Given the description of an element on the screen output the (x, y) to click on. 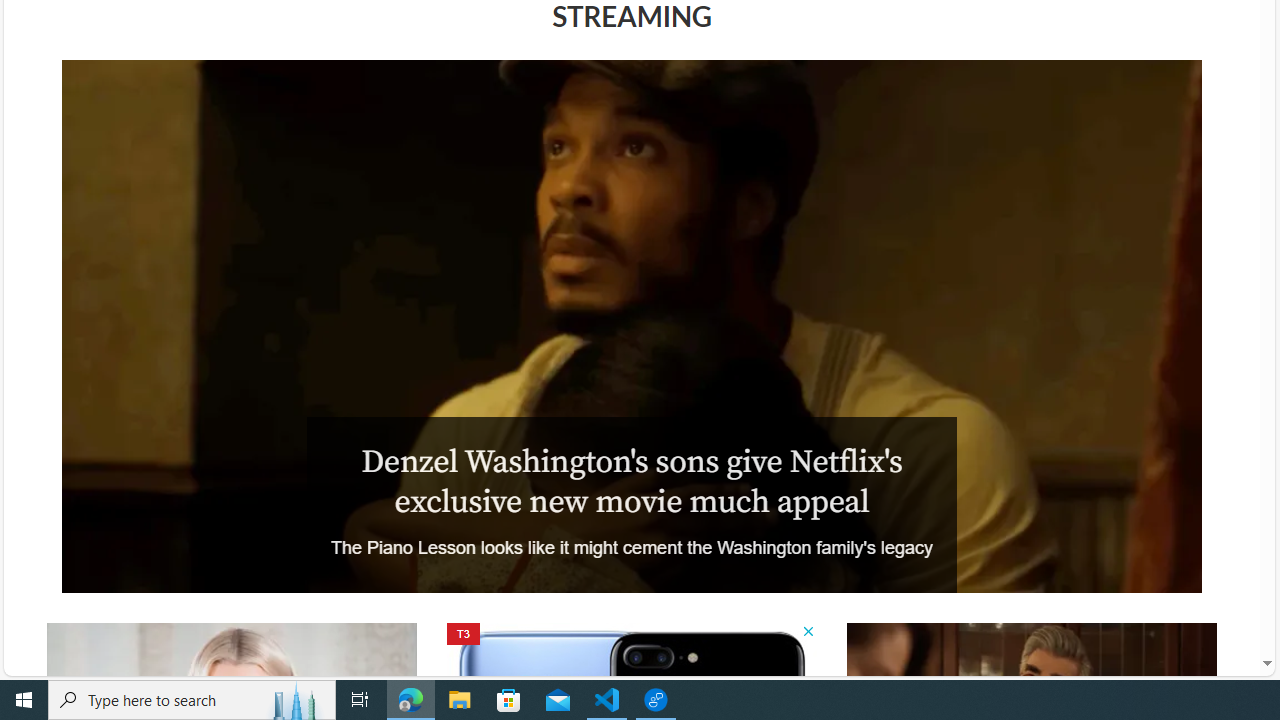
The Piano Lesson (631, 326)
